Given the description of an element on the screen output the (x, y) to click on. 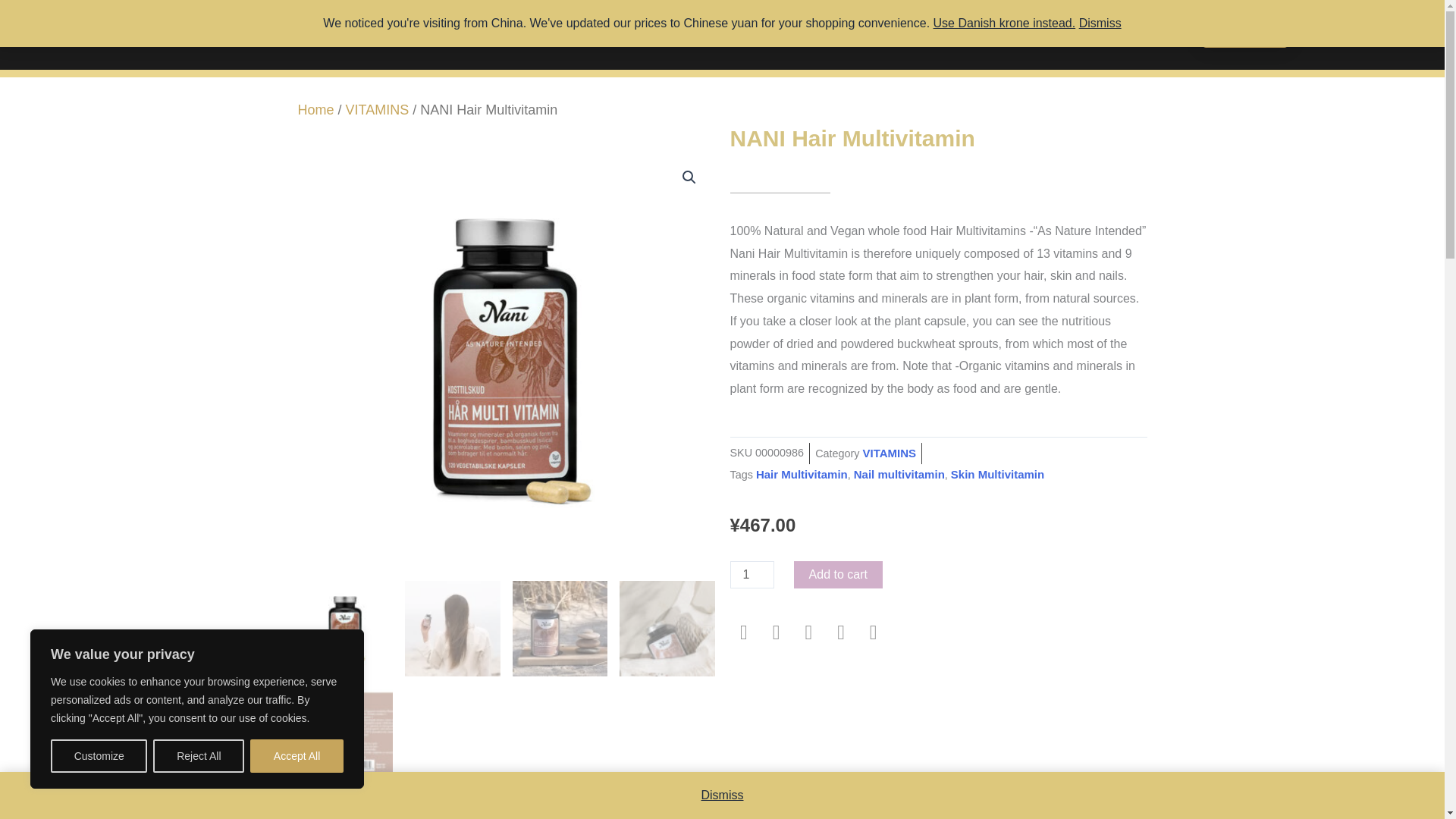
Accept All (296, 756)
Reject All (198, 756)
CONTACT (943, 34)
CATEGORIES (654, 34)
ABOUT (864, 34)
1 (751, 574)
Customize (98, 756)
cropped-THEAUZShop-logo.png (180, 35)
MY ACCOUNT (770, 34)
HOME (498, 34)
